Given the description of an element on the screen output the (x, y) to click on. 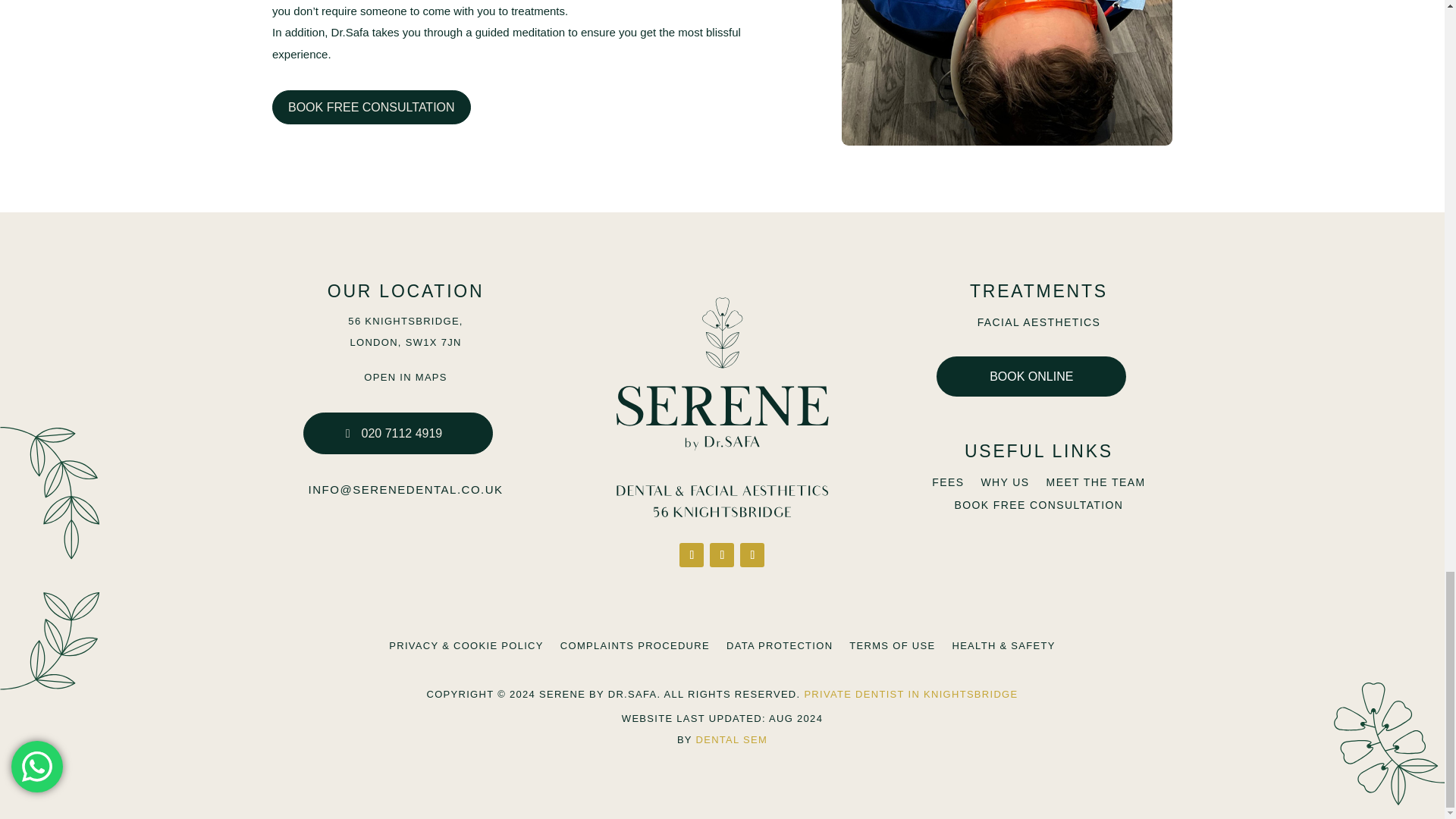
Dental SEM (731, 739)
endolift and happy air (1006, 72)
Follow on Facebook (691, 554)
Follow on Instagram (721, 554)
serene-by-dr.safa-logo (722, 406)
Follow on WhatsApp (751, 554)
